Given the description of an element on the screen output the (x, y) to click on. 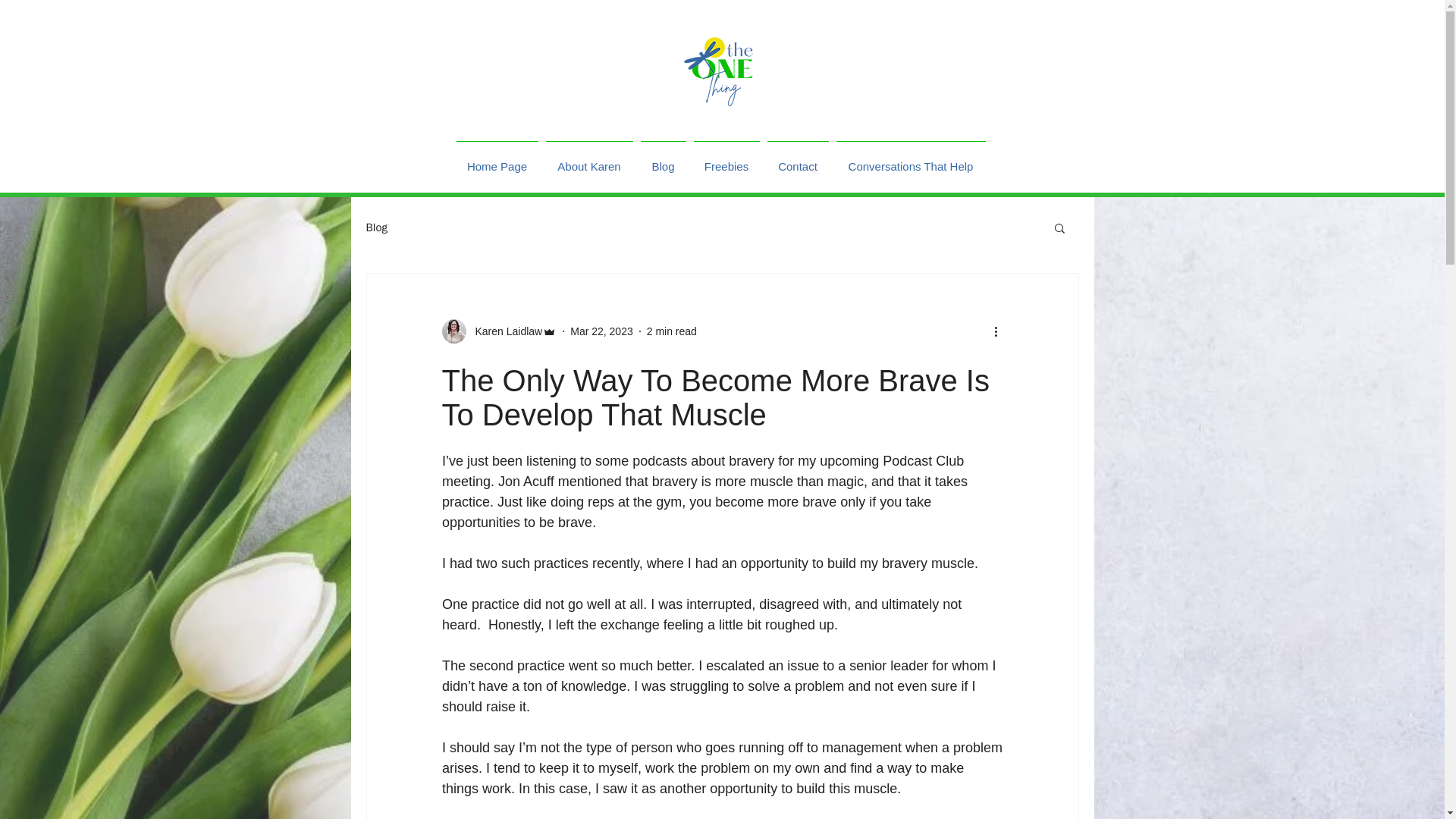
About Karen (588, 159)
Contact (796, 159)
Freebies (726, 159)
Mar 22, 2023 (601, 330)
Home Page (496, 159)
Blog (663, 159)
Blog (376, 227)
Karen Laidlaw (503, 330)
Conversations That Help (911, 159)
2 min read (671, 330)
Karen Laidlaw (498, 331)
